Given the description of an element on the screen output the (x, y) to click on. 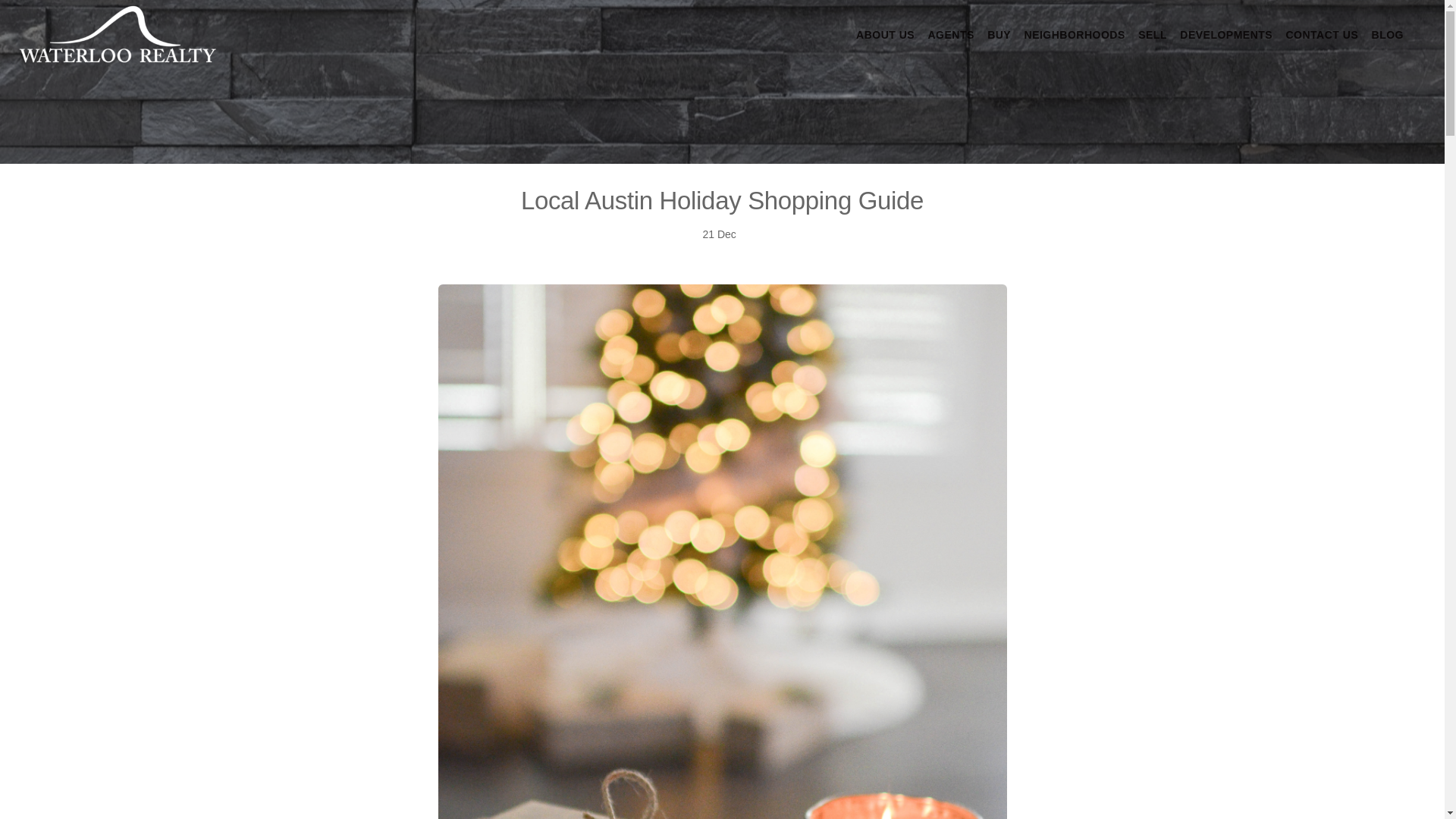
SELL (1152, 34)
BUY (998, 34)
NEIGHBORHOODS (1075, 34)
CONTACT US (1321, 34)
DEVELOPMENTS (1225, 34)
ABOUT US (885, 34)
AGENTS (950, 34)
BLOG (1387, 34)
